Given the description of an element on the screen output the (x, y) to click on. 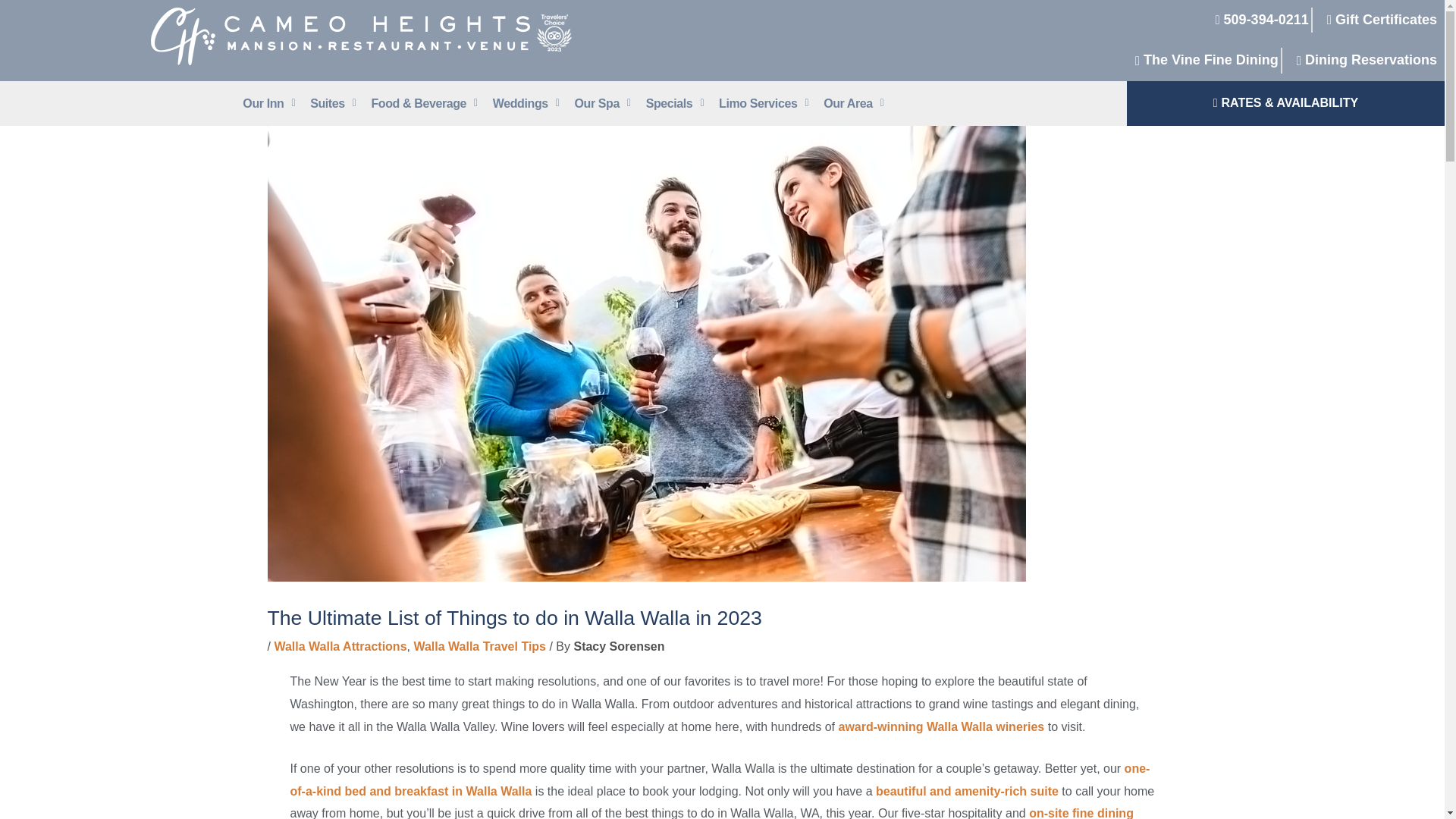
Gift Certificates (1376, 19)
Dining Reservations (1361, 59)
Our Spa (601, 102)
Suites (332, 102)
View all posts by Stacy Sorensen (618, 645)
Our Inn (268, 102)
Weddings (525, 102)
509-394-0211 (1255, 19)
The Vine Fine Dining (1201, 59)
Specials (675, 102)
